Given the description of an element on the screen output the (x, y) to click on. 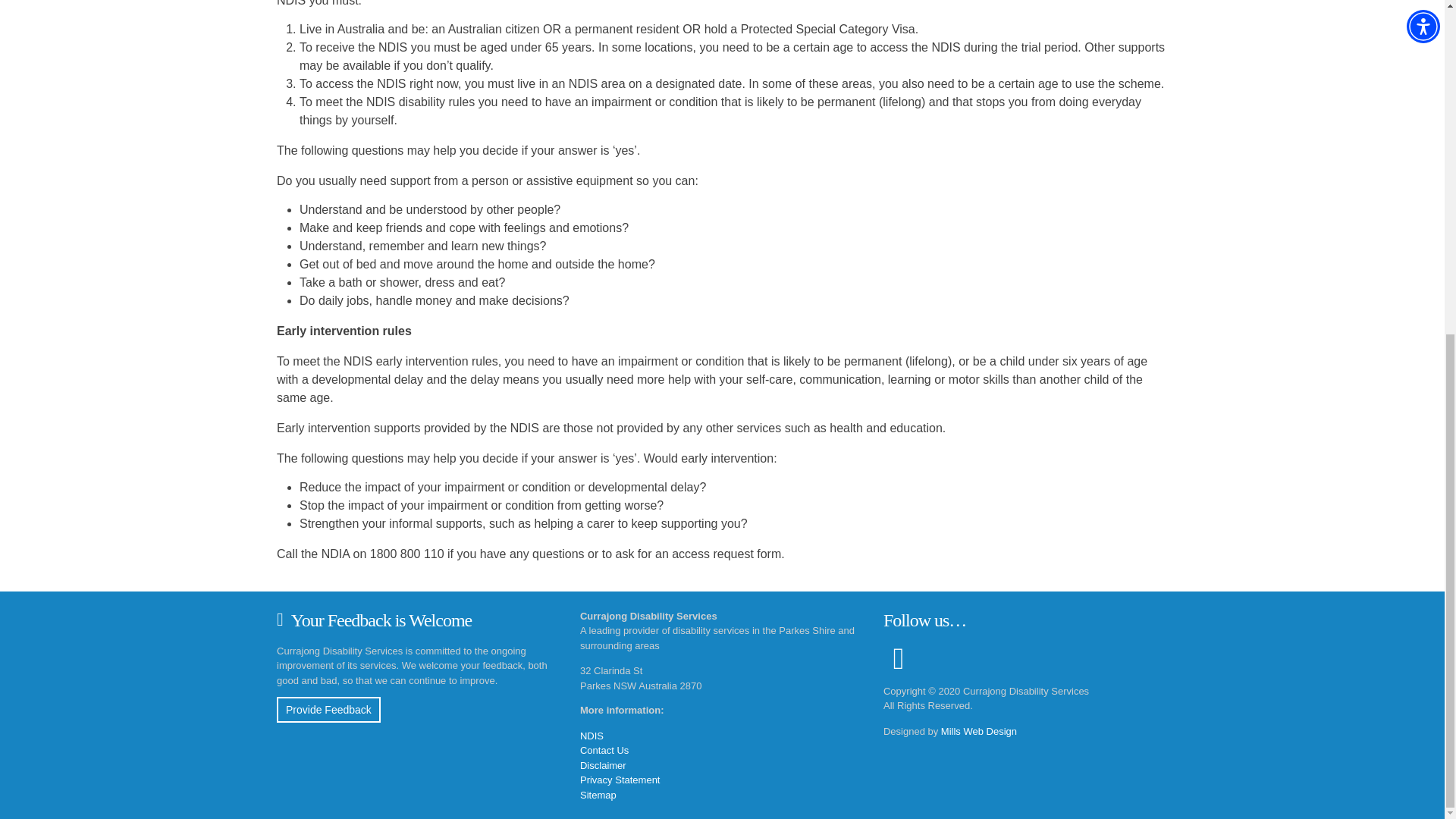
Privacy Statement (620, 779)
Disclaimer (602, 764)
Sitemap (597, 794)
Contact Us (603, 749)
NDIS (591, 736)
Website Disclaimer (602, 764)
Mills Web Design (978, 731)
Provide Feedback (328, 709)
Sitemap (597, 794)
Privacy Statement (620, 779)
Contact (603, 749)
